Given the description of an element on the screen output the (x, y) to click on. 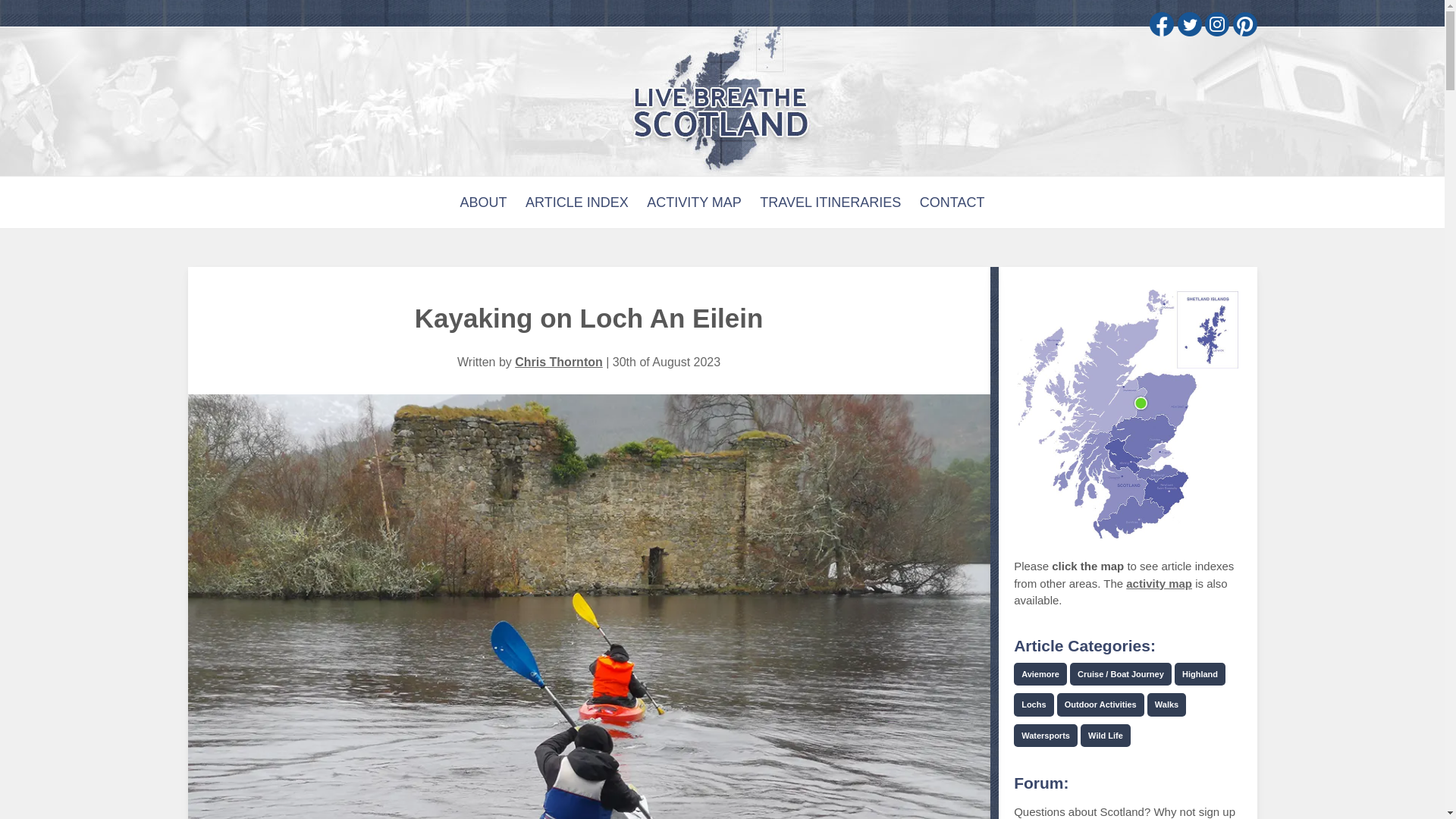
ABOUT (483, 201)
Chris Thornton (558, 361)
CONTACT (952, 201)
ACTIVITY MAP (693, 201)
ARTICLE INDEX (576, 201)
TRAVEL ITINERARIES (830, 201)
